Given the description of an element on the screen output the (x, y) to click on. 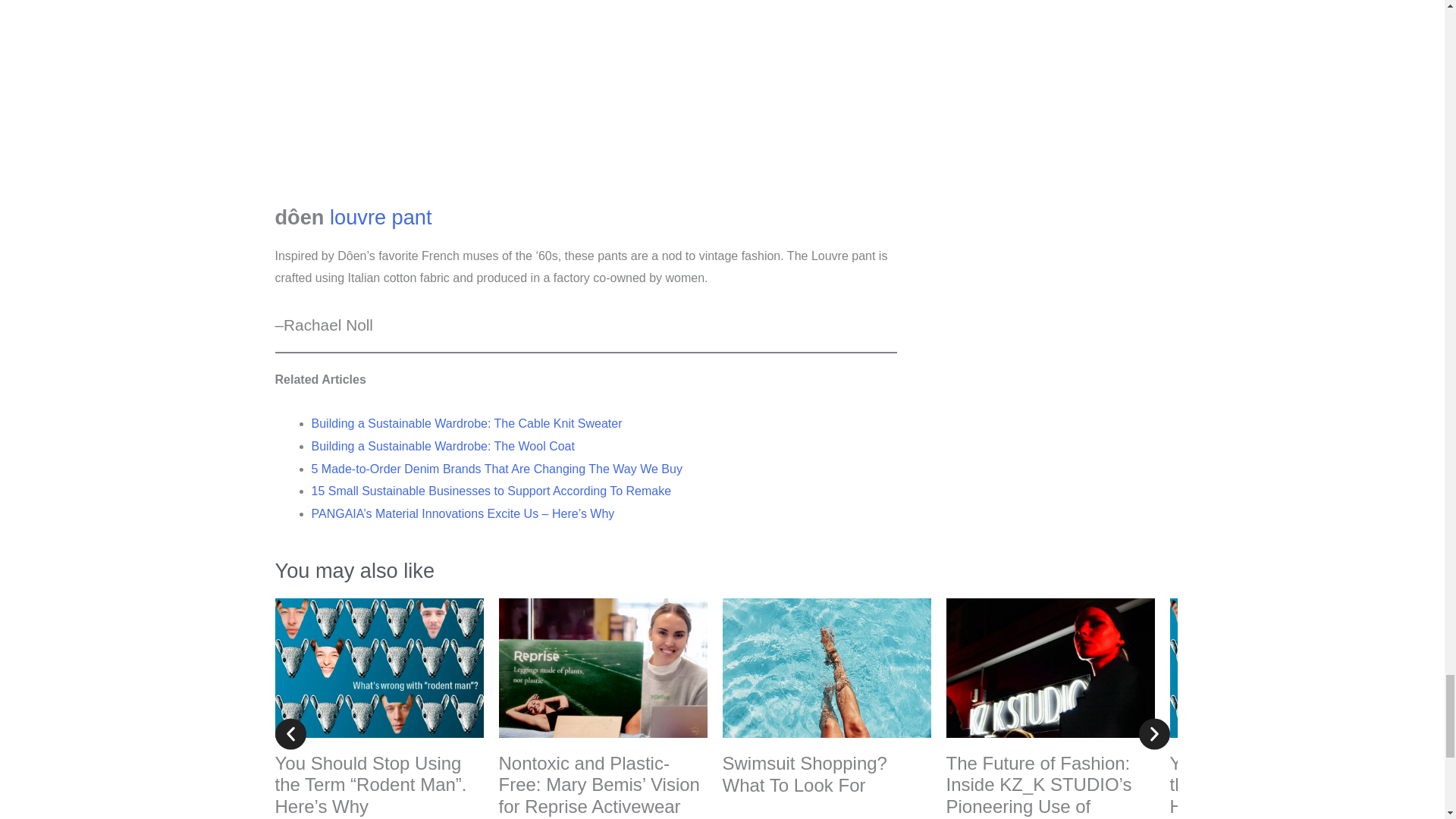
louvre pant  (384, 217)
Building a Sustainable Wardrobe: The Cable Knit Sweater (466, 422)
Building a Sustainable Wardrobe: The Wool Coat (442, 445)
